Given the description of an element on the screen output the (x, y) to click on. 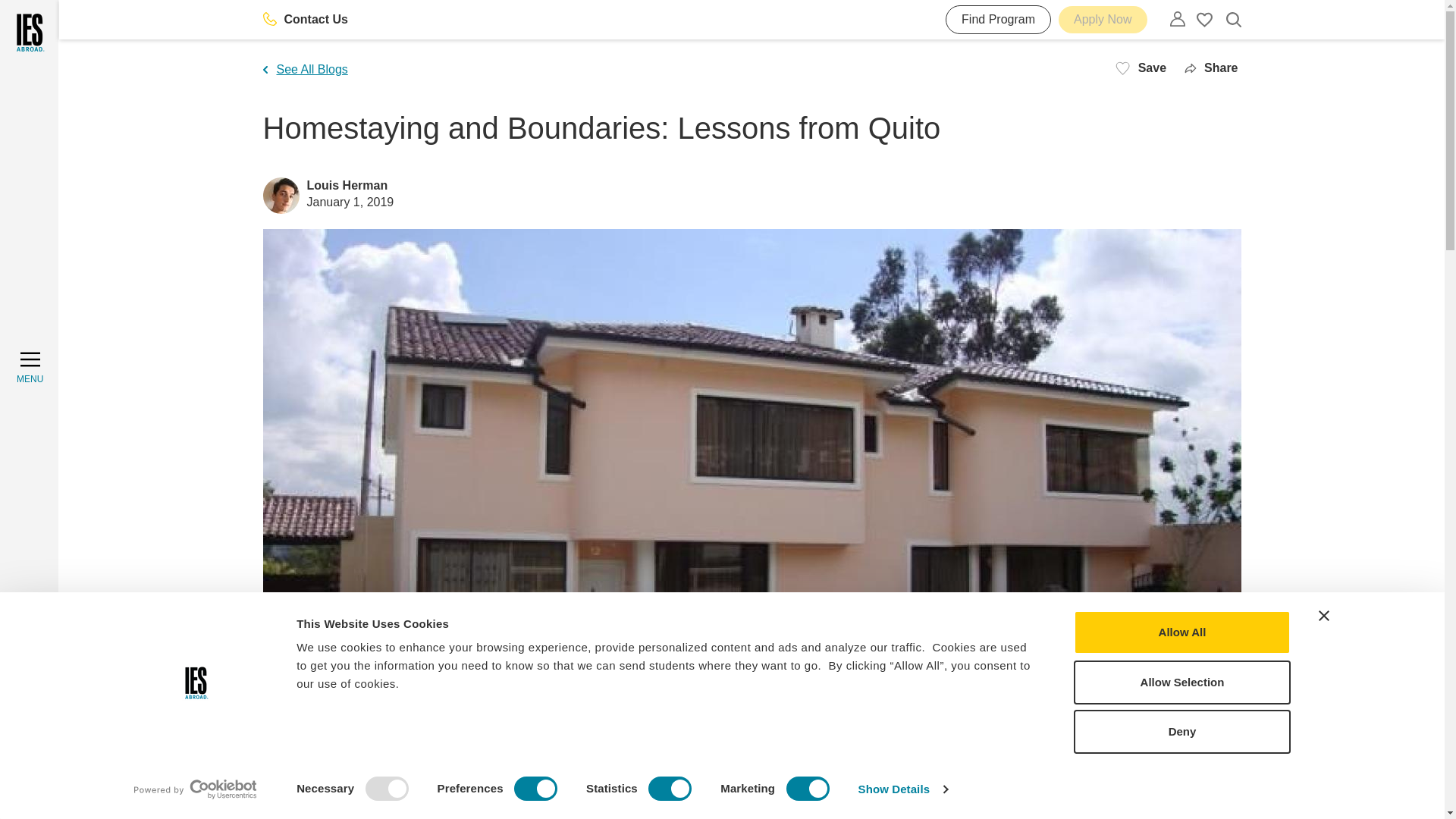
Show Details (902, 789)
